Given the description of an element on the screen output the (x, y) to click on. 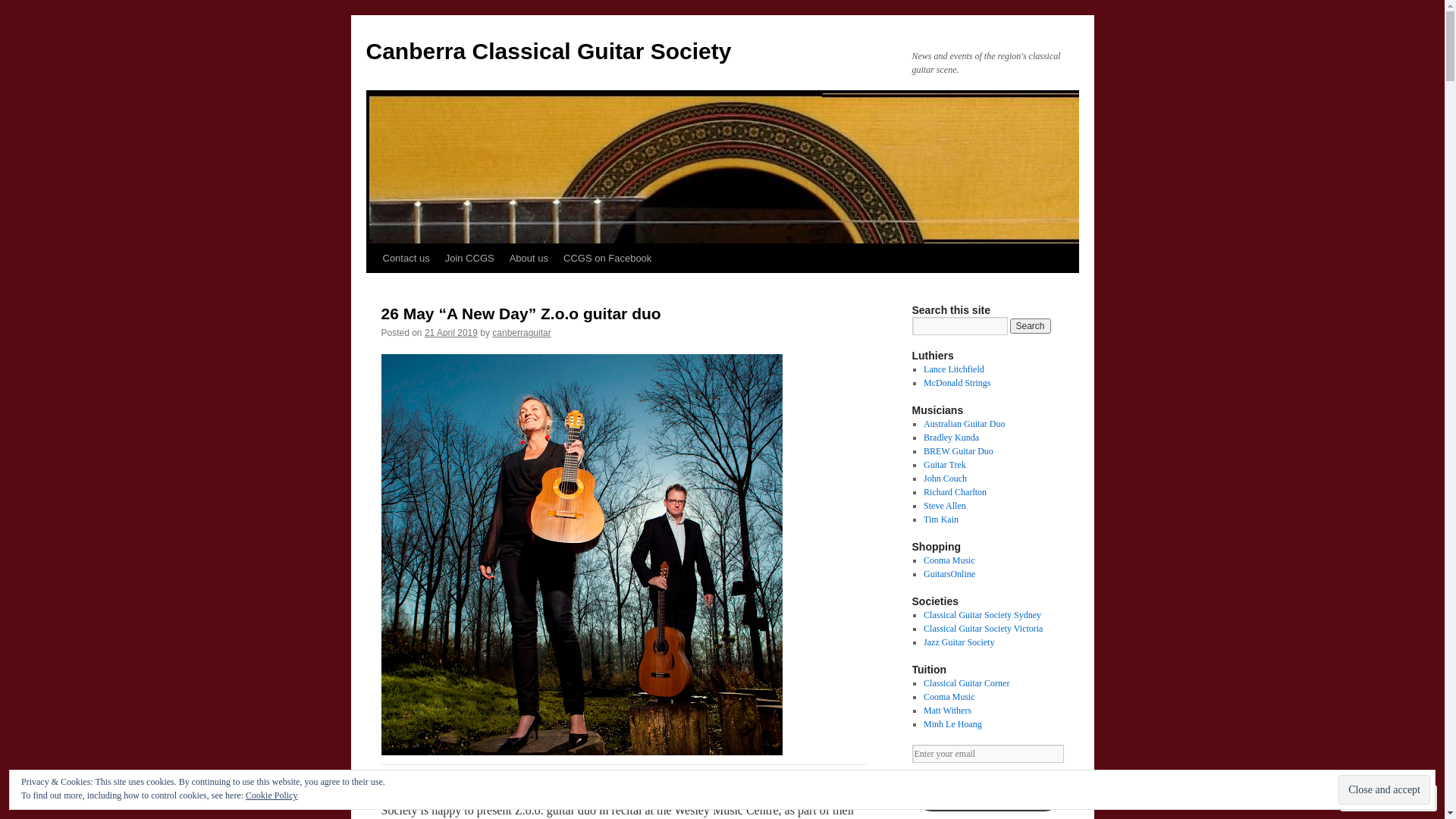
Bradley Kunda Element type: text (951, 437)
Contact us Element type: text (405, 258)
GuitarsOnline Element type: text (949, 573)
BREW Guitar Duo Element type: text (958, 450)
Cooma Music Element type: text (949, 696)
Close and accept Element type: text (1384, 789)
Minh Le Hoang Element type: text (952, 723)
McDonald Strings Element type: text (956, 382)
Matt Withers Element type: text (947, 710)
Jazz Guitar Society Element type: text (958, 642)
Classical Guitar Corner Element type: text (966, 682)
Join CCGS Element type: text (469, 258)
Canberra Classical Guitar Society Element type: text (548, 50)
Tim Kain Element type: text (940, 519)
Enter your email Element type: hover (987, 753)
Lance Litchfield Element type: text (953, 369)
canberraguitar Element type: text (521, 332)
Steve Allen Element type: text (944, 505)
CCGS on Facebook Element type: text (606, 258)
Search Element type: text (1030, 325)
About us Element type: text (528, 258)
Australian Guitar Duo Element type: text (963, 423)
Classical Guitar Society Sydney Element type: text (982, 614)
21 April 2019 Element type: text (450, 332)
Follow Element type: text (1374, 797)
Classical Guitar Society Victoria Element type: text (982, 628)
John Couch Element type: text (944, 478)
Cooma Music Element type: text (949, 560)
Guitar Society Newsletter Signup Element type: text (987, 791)
Cookie Policy Element type: text (271, 795)
Guitar Trek Element type: text (944, 464)
Richard Charlton Element type: text (954, 491)
